Given the description of an element on the screen output the (x, y) to click on. 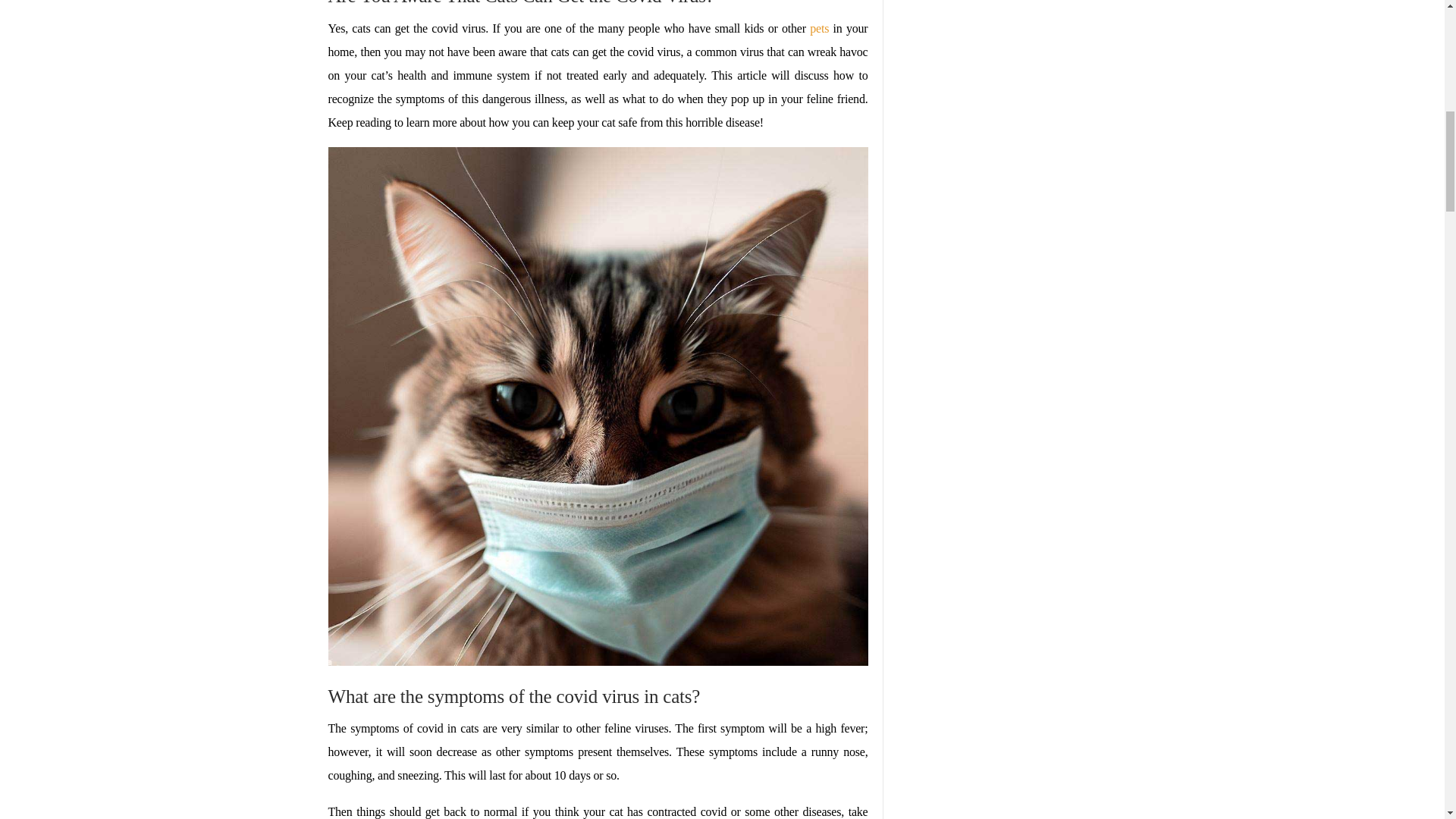
pets (818, 28)
